Given the description of an element on the screen output the (x, y) to click on. 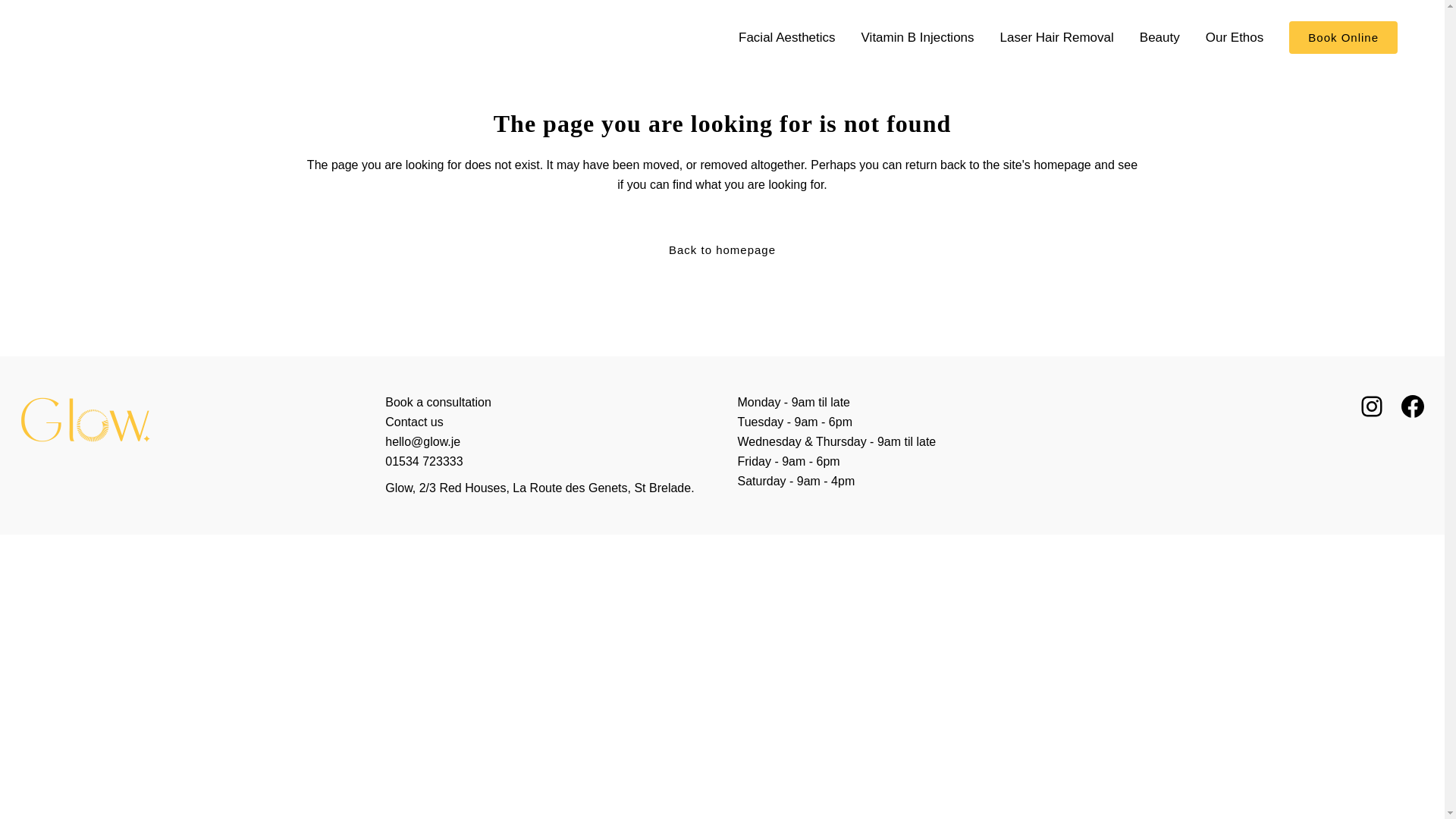
Vitamin B Injections (917, 38)
01534 723333 (424, 461)
Facebook (1412, 406)
Facial Aesthetics (786, 38)
Our Ethos (1234, 38)
Instagram (1372, 406)
Contact us (413, 421)
Laser Hair Removal (1056, 38)
Book a consultation (438, 401)
Book Online (1343, 38)
